Given the description of an element on the screen output the (x, y) to click on. 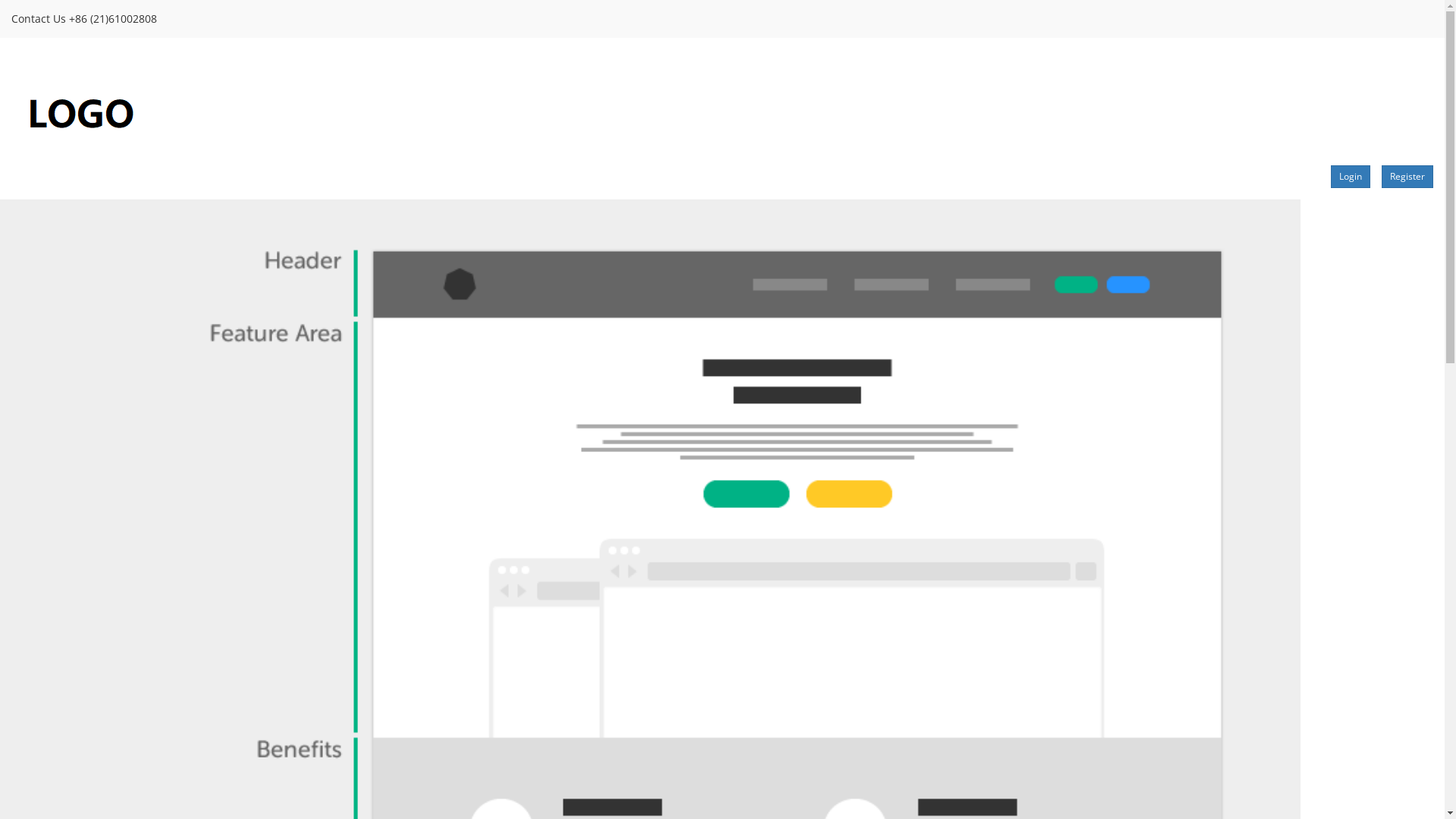
Login Element type: text (1350, 176)
Register Element type: text (1407, 176)
